Given the description of an element on the screen output the (x, y) to click on. 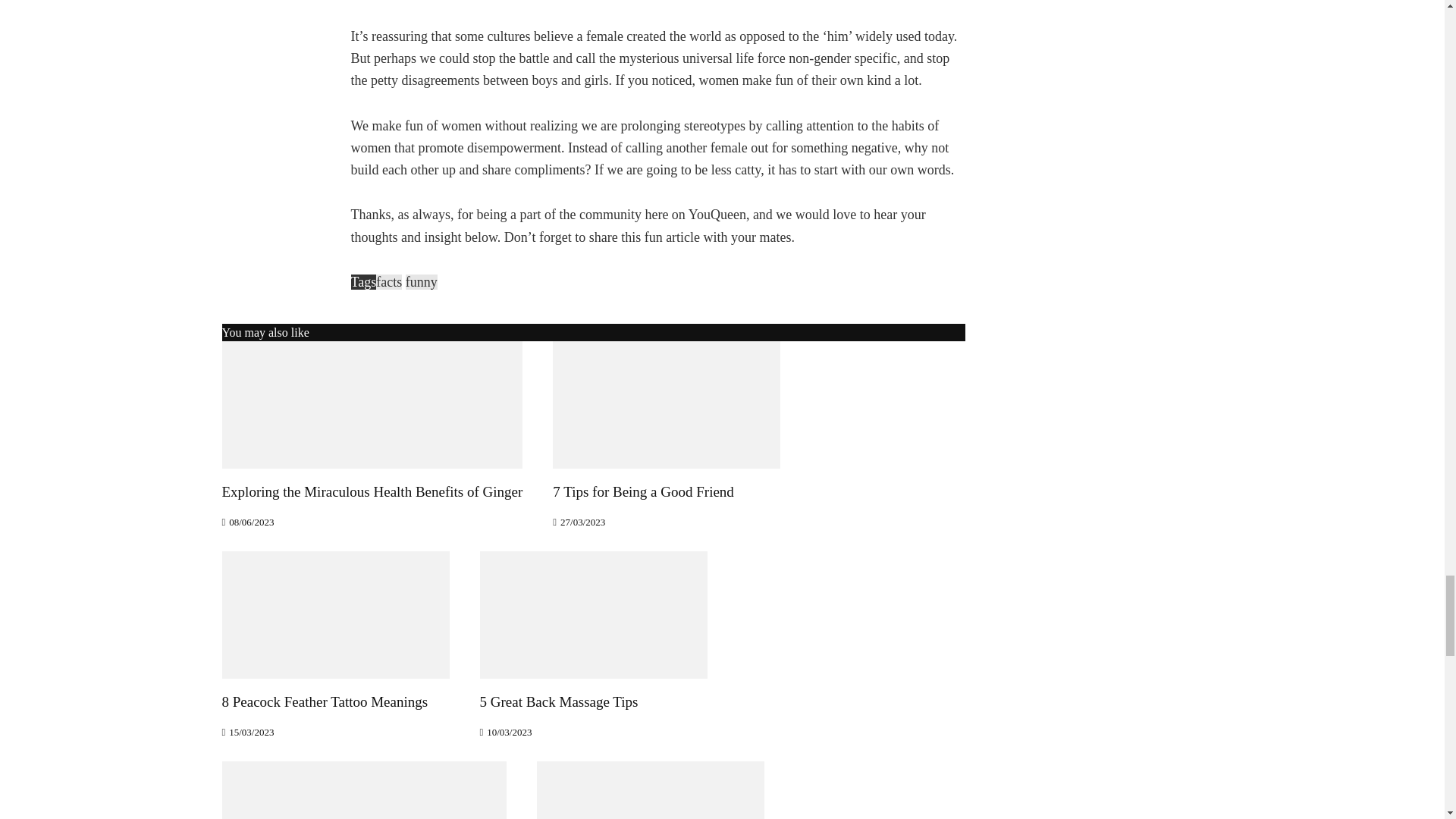
facts (388, 281)
Exploring the Miraculous Health Benefits of Ginger (371, 491)
5 Great Back Massage Tips (592, 613)
funny (422, 281)
8 Peacock Feather Tattoo Meanings (334, 613)
7 Tips for Being a Good Friend (666, 403)
Exploring the Miraculous Health Benefits of Ginger (372, 403)
